Given the description of an element on the screen output the (x, y) to click on. 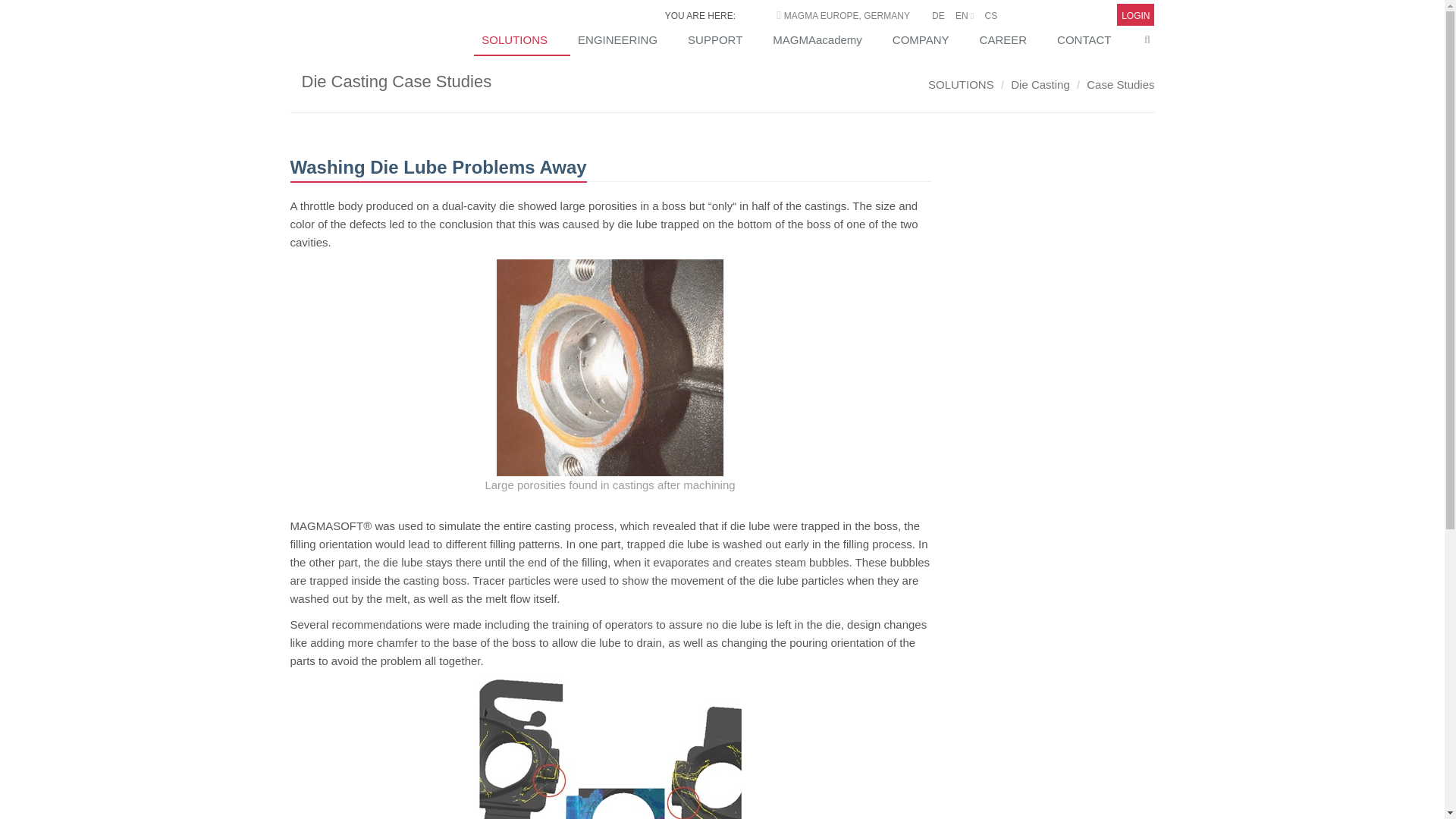
EN  (964, 15)
MAGMA EUROPE, GERMANY (847, 15)
LOGIN (1135, 15)
CS (990, 15)
DE (937, 15)
